Given the description of an element on the screen output the (x, y) to click on. 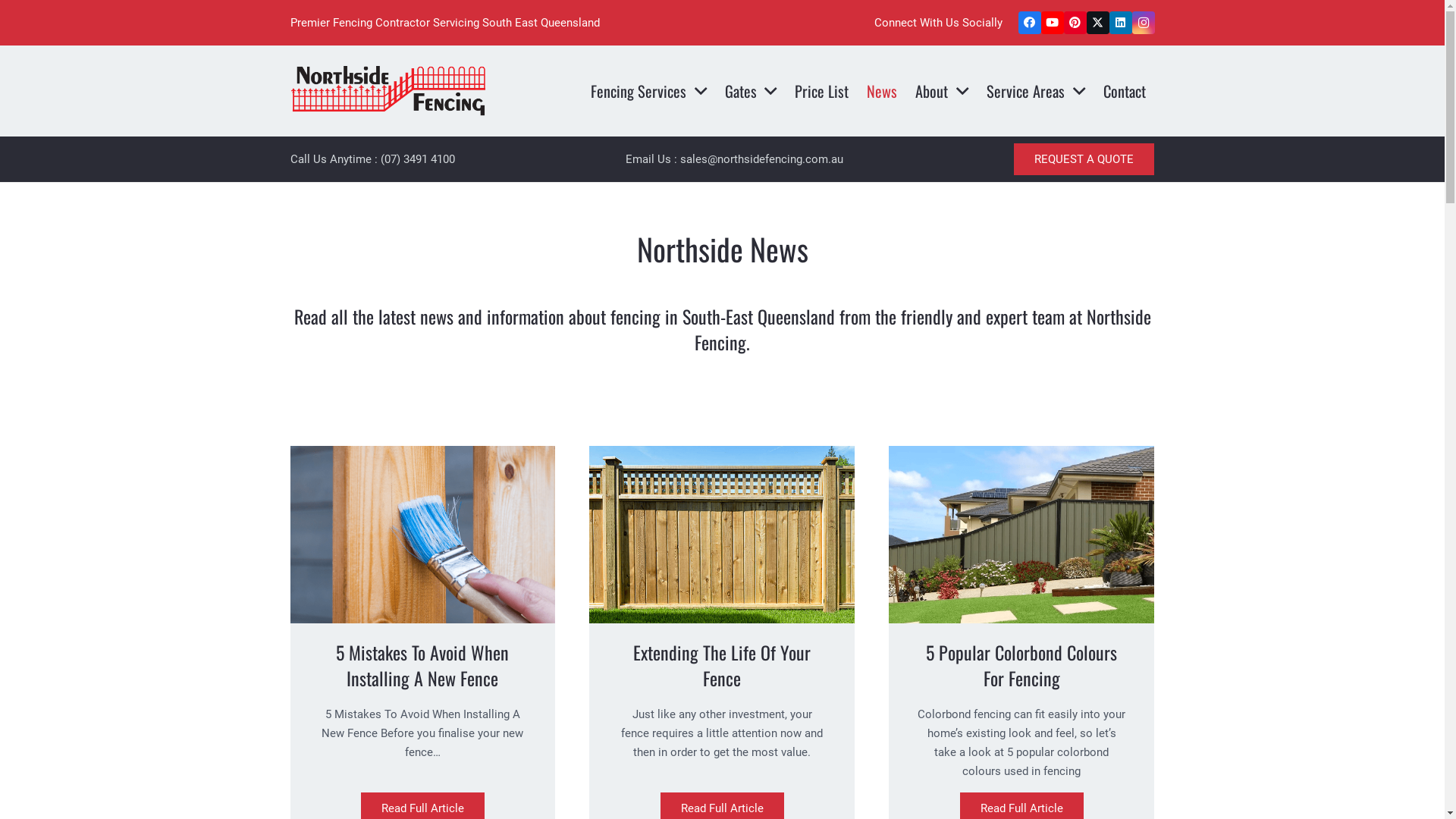
5 Popular Colorbond Colours For Fencing Element type: text (1021, 664)
Pinterest Element type: hover (1074, 22)
LinkedIn Element type: hover (1119, 22)
Gates Element type: text (750, 90)
REQUEST A QUOTE Element type: text (1083, 159)
5 Mistakes To Avoid When Installing A New Fence Element type: text (421, 664)
YouTube Element type: hover (1051, 22)
Twitter Element type: hover (1096, 22)
Instagram Element type: hover (1142, 22)
Service Areas Element type: text (1035, 90)
Price List Element type: text (821, 90)
Extending The Life Of Your Fence Element type: text (721, 664)
News Element type: text (881, 90)
Fencing Services Element type: text (648, 90)
Facebook Element type: hover (1028, 22)
Contact Element type: text (1124, 90)
About Element type: text (941, 90)
